Given the description of an element on the screen output the (x, y) to click on. 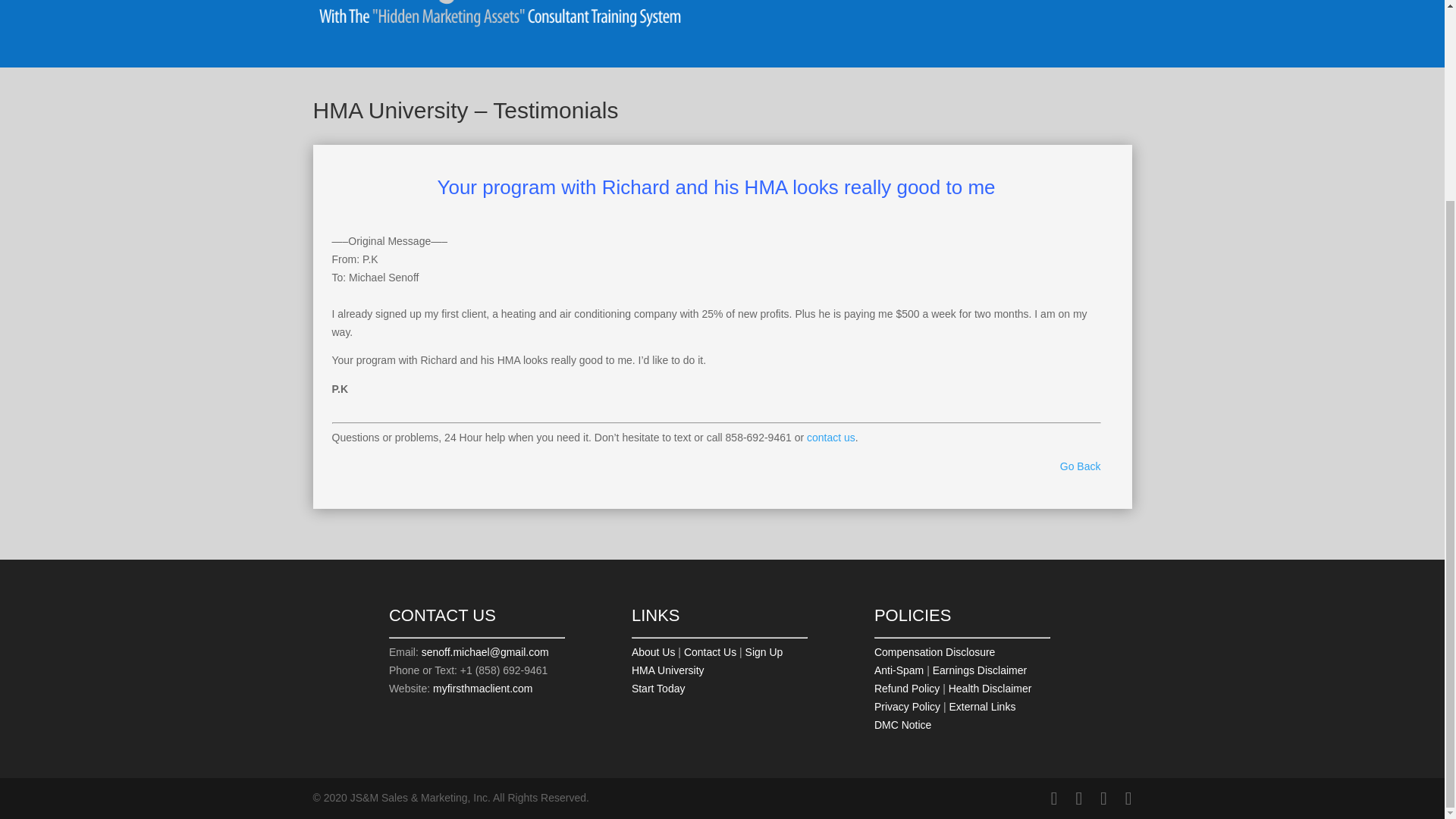
About Us (653, 652)
Privacy Policy (907, 706)
Start Today (658, 688)
Contact Us (710, 652)
Become a HMA member. (764, 652)
HMA University (667, 670)
Health Disclaimer (990, 688)
Refund Policy (907, 688)
myfirsthmaclient.com (482, 688)
External Links (981, 706)
Go Back (1079, 466)
Anti-Spam (899, 670)
HMA Website (482, 688)
Earnings Disclaimer (979, 670)
header-logo (505, 21)
